Given the description of an element on the screen output the (x, y) to click on. 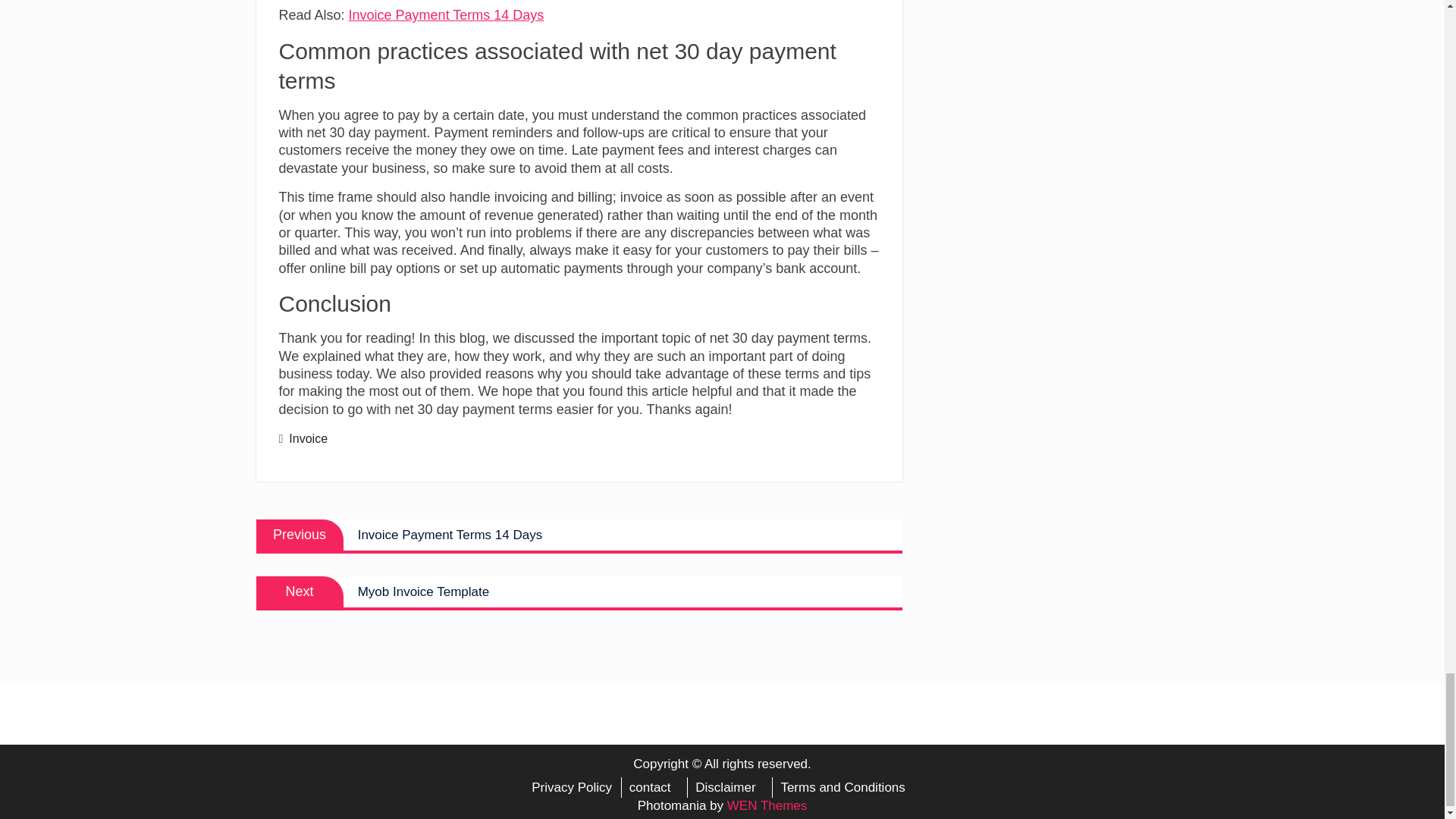
Invoice Payment Terms 14 Days (446, 14)
Invoice (579, 534)
